Given the description of an element on the screen output the (x, y) to click on. 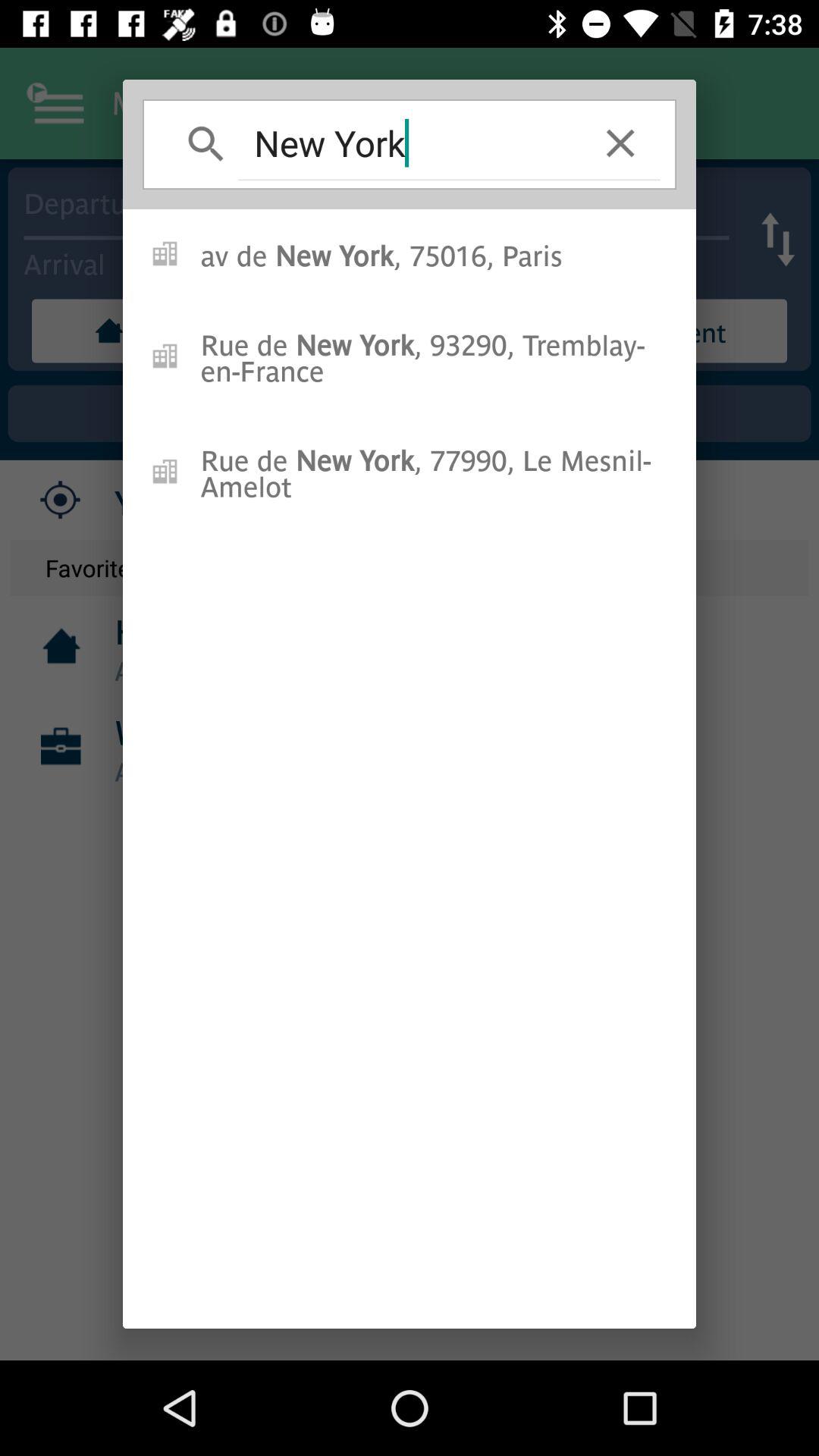
click item next to new york icon (620, 143)
